Given the description of an element on the screen output the (x, y) to click on. 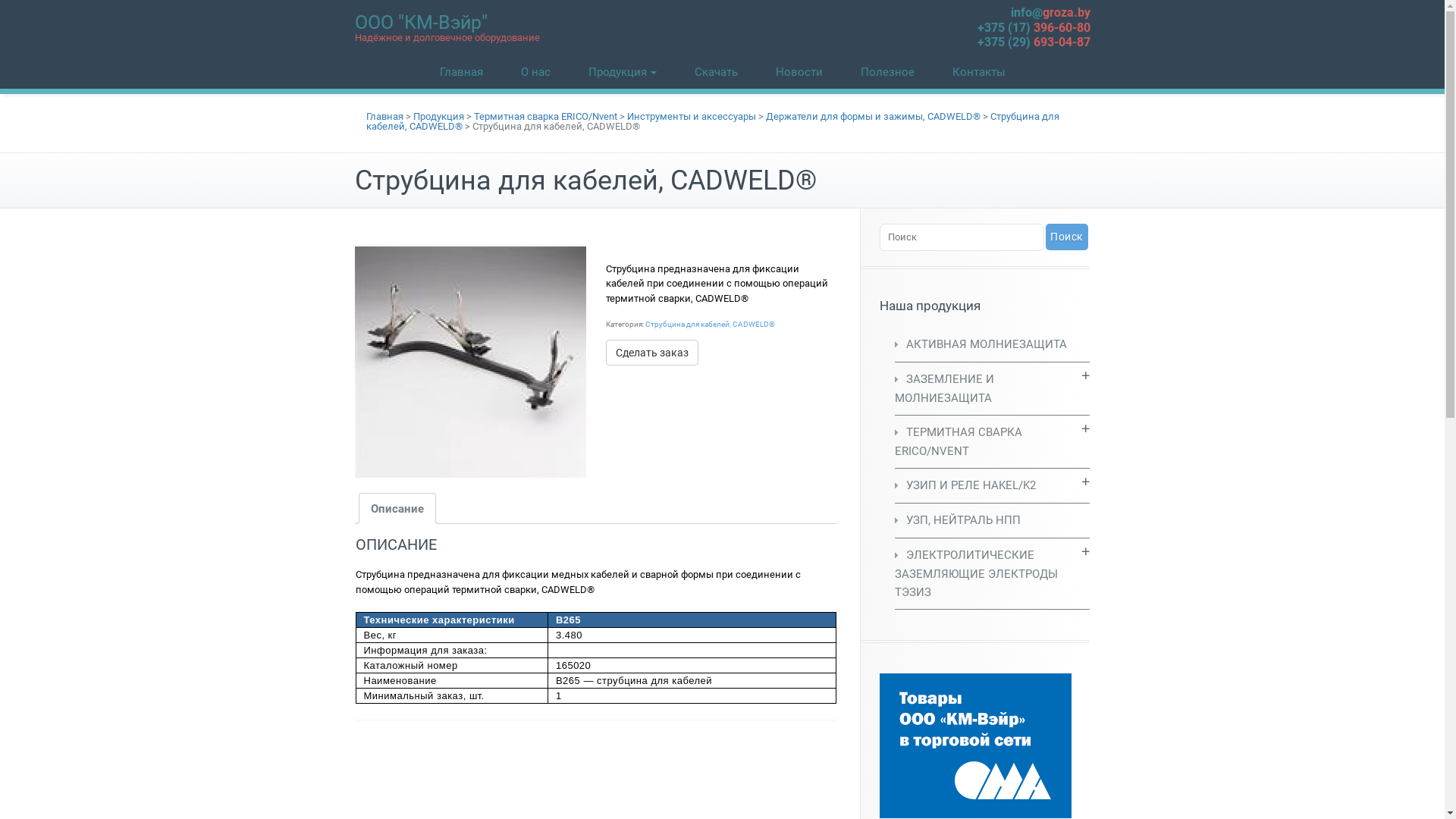
info@groza.by Element type: text (1049, 12)
+375 (29) 693-04-87 Element type: text (1032, 41)
+375 (17) 396-60-80 Element type: text (1032, 26)
239 Element type: hover (470, 361)
